Given the description of an element on the screen output the (x, y) to click on. 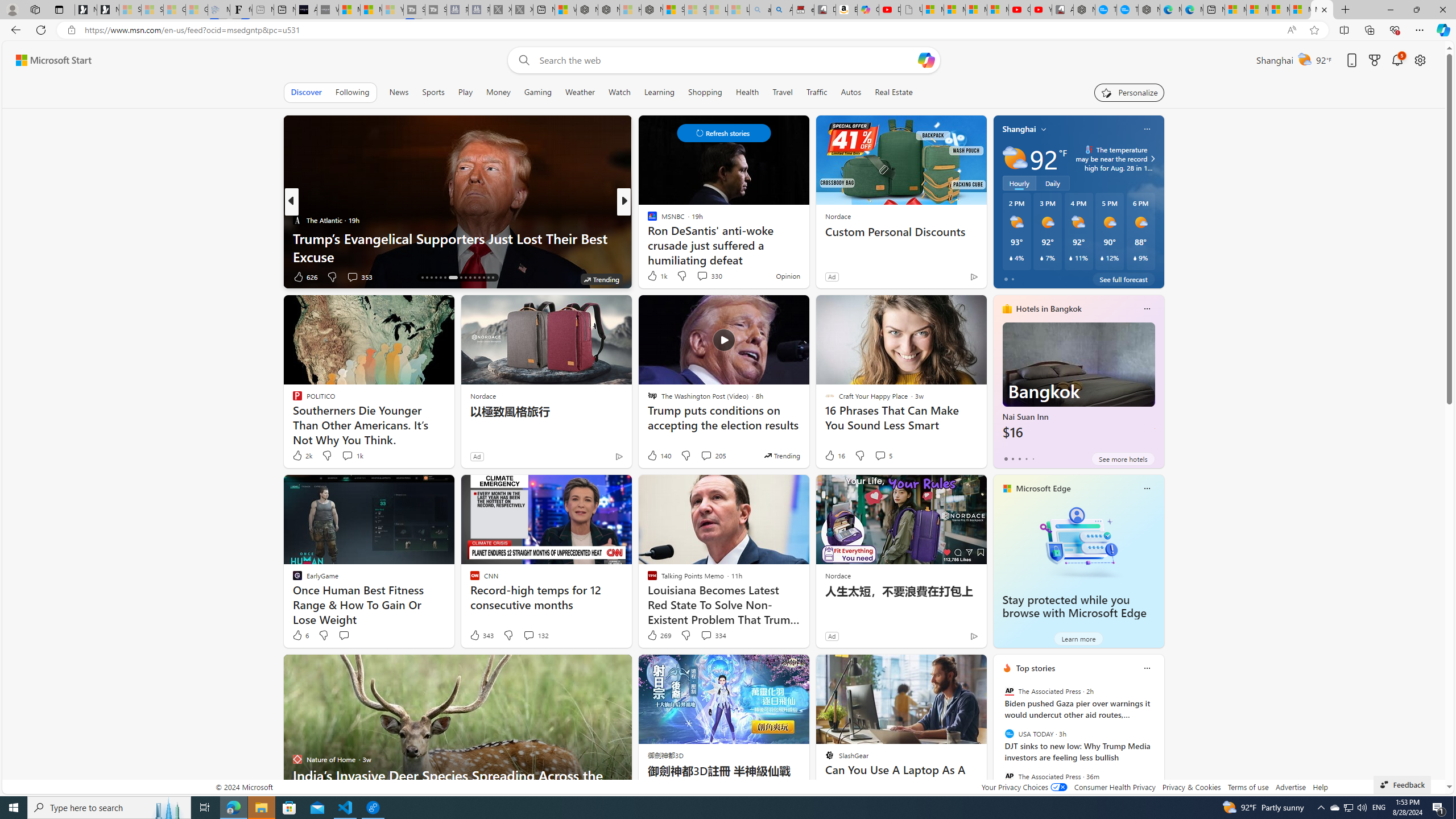
AutomationID: tab-25 (470, 277)
hotels-header-icon (1006, 308)
LGBTQ Nation (647, 219)
AutomationID: tab-30 (492, 277)
Traffic (816, 92)
Traffic (816, 92)
Class: weather-current-precipitation-glyph (1134, 257)
Open Copilot (925, 59)
Address and search bar (680, 29)
16 Like (834, 455)
Open Copilot (926, 59)
